Given the description of an element on the screen output the (x, y) to click on. 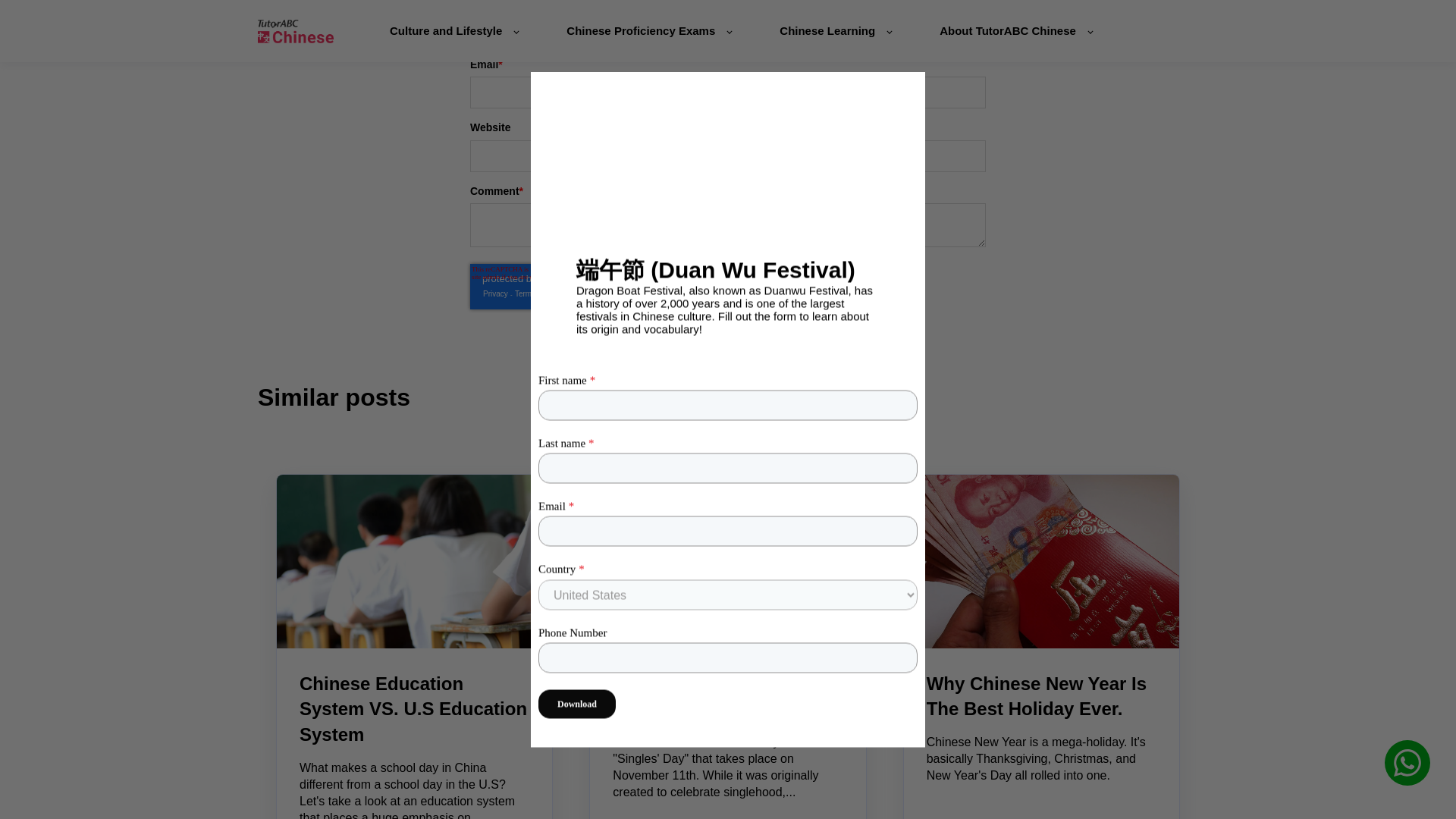
Submit Comment (727, 338)
